Given the description of an element on the screen output the (x, y) to click on. 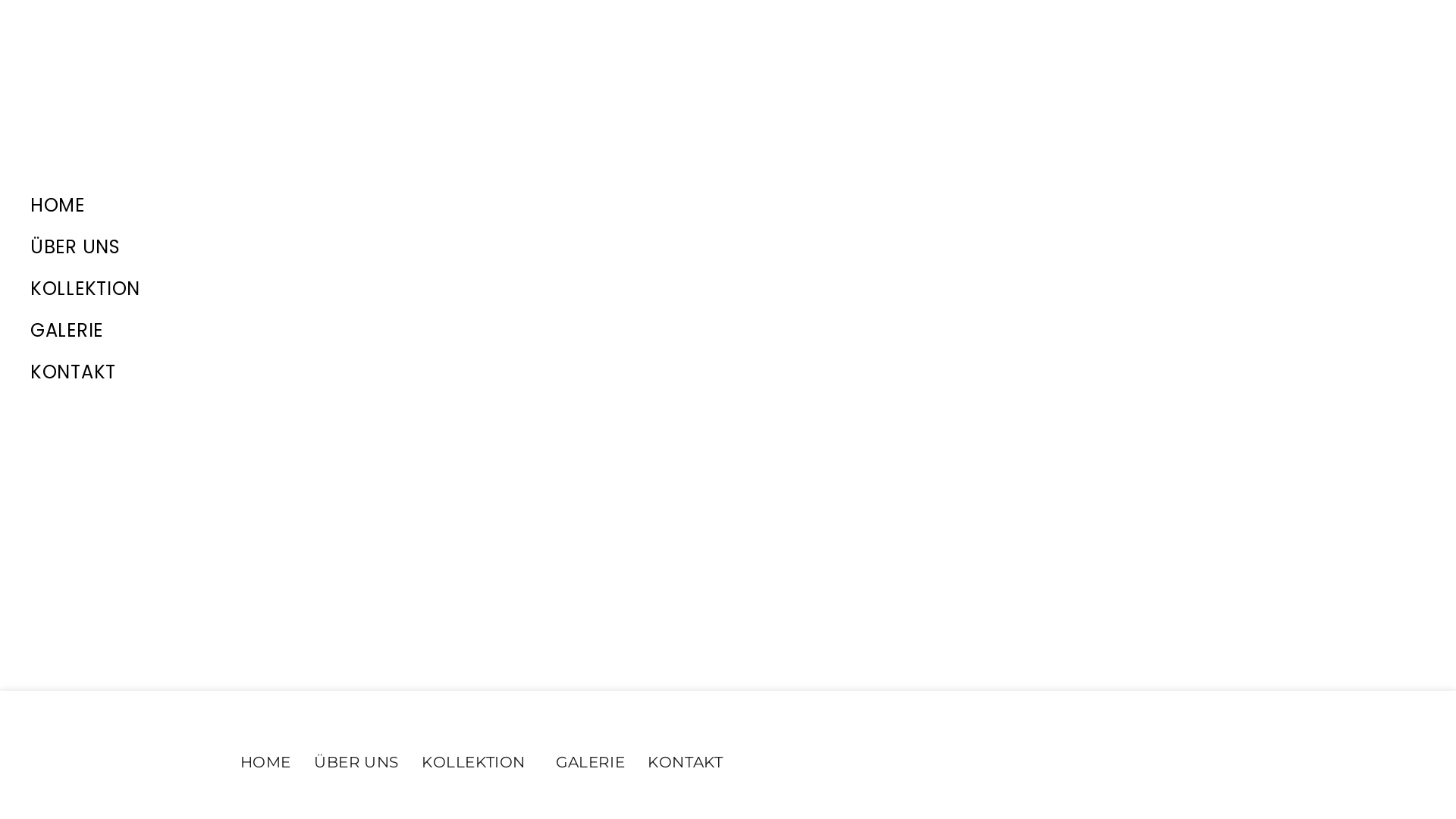
KOLLEKTION Element type: text (477, 761)
GALERIE Element type: text (386, 330)
KOLLEKTION Element type: text (386, 288)
HOME Element type: text (386, 204)
HOME Element type: text (265, 761)
KONTAKT Element type: text (685, 761)
GALERIE Element type: text (590, 761)
KONTAKT Element type: text (386, 371)
